Given the description of an element on the screen output the (x, y) to click on. 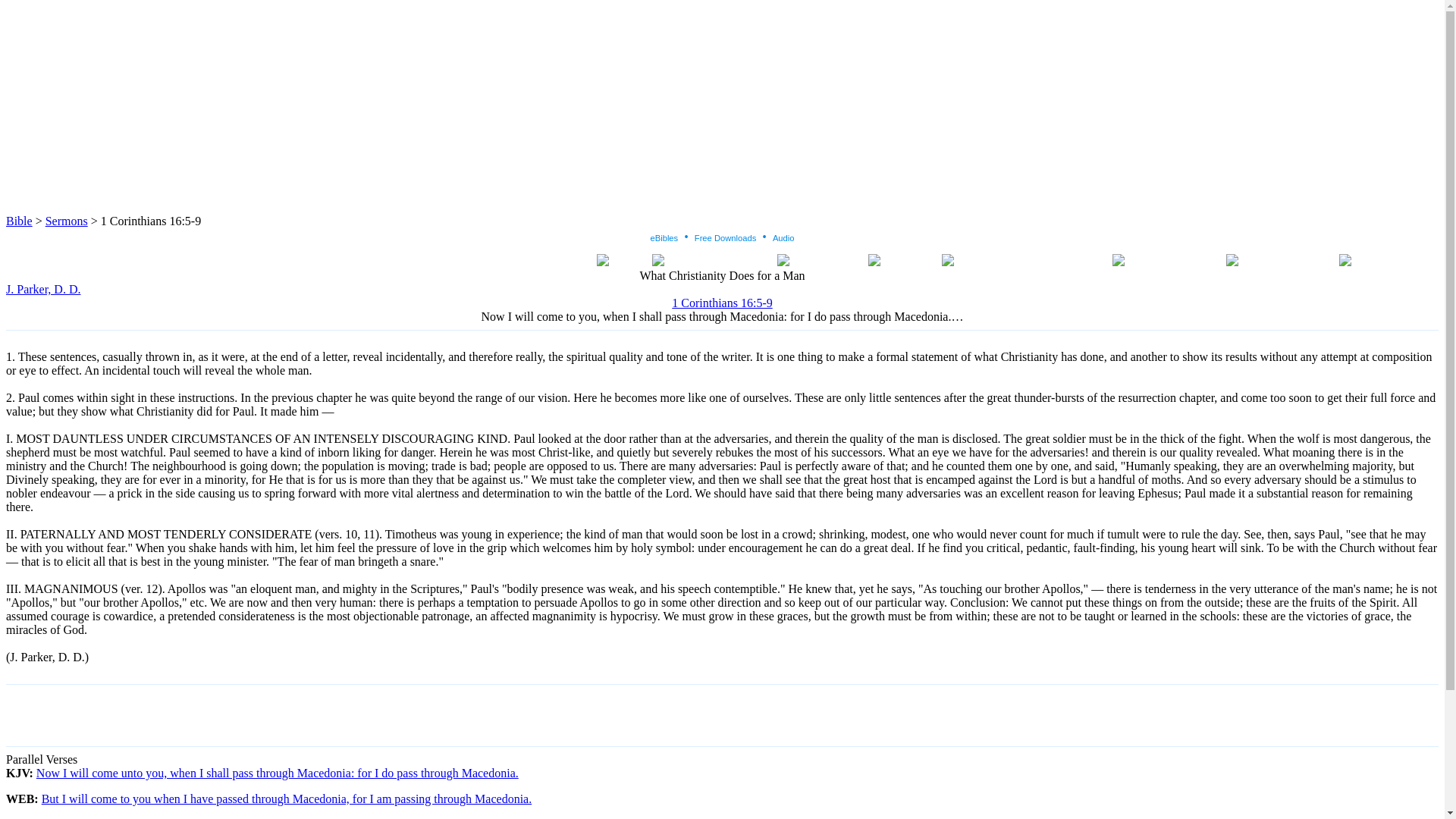
Bible (18, 220)
1 Corinthians 16:5-9 (721, 302)
J. Parker, D. D. (42, 288)
Sermons (66, 220)
